Given the description of an element on the screen output the (x, y) to click on. 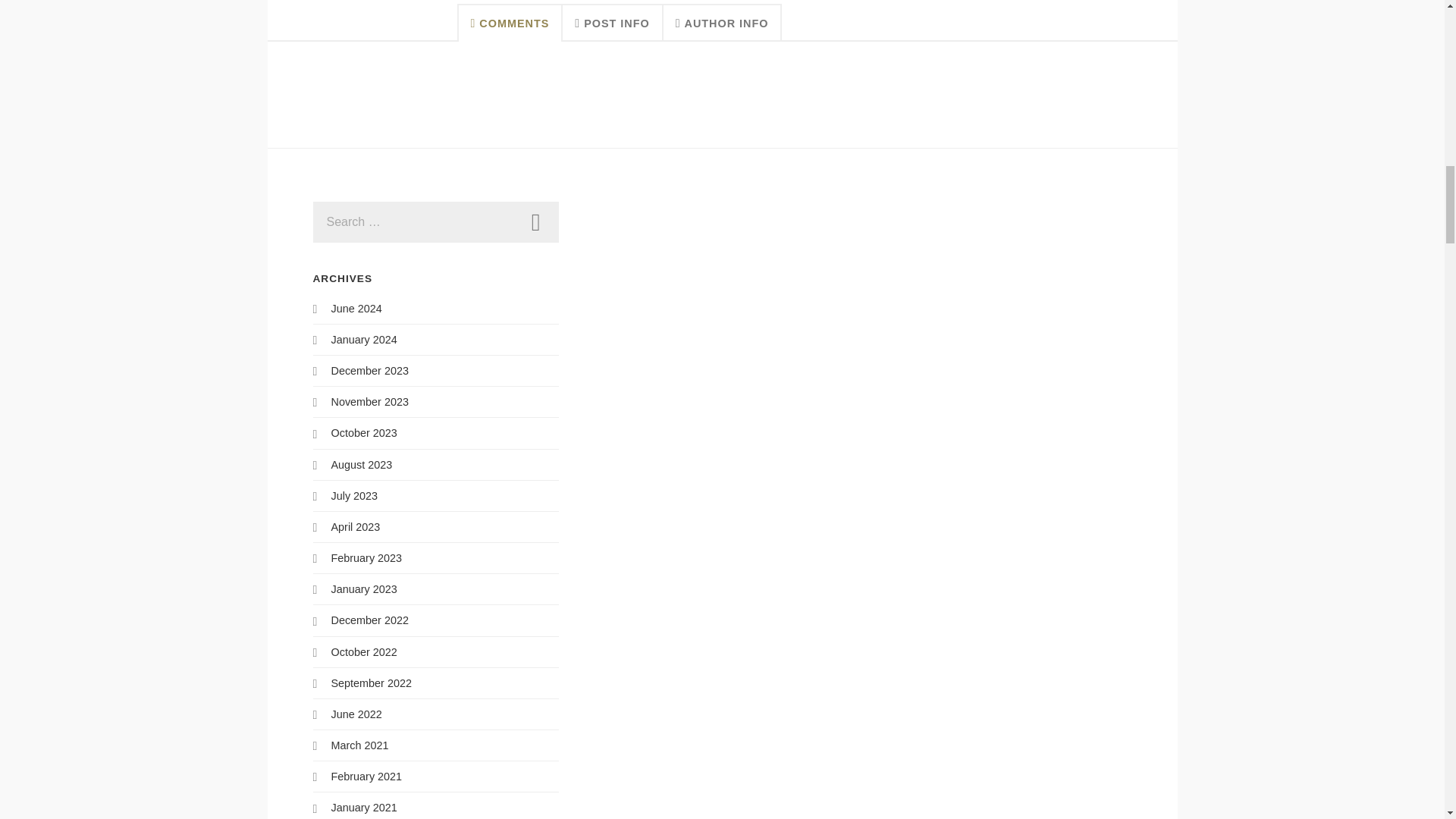
January 2023 (363, 589)
January 2024 (363, 339)
AUTHOR INFO (723, 22)
October 2022 (363, 652)
Search (534, 221)
December 2022 (368, 620)
February 2023 (365, 558)
November 2023 (368, 401)
COMMENTS (509, 22)
Search (534, 221)
Search (534, 221)
April 2023 (355, 526)
POST INFO (612, 22)
August 2023 (360, 464)
June 2024 (355, 308)
